Given the description of an element on the screen output the (x, y) to click on. 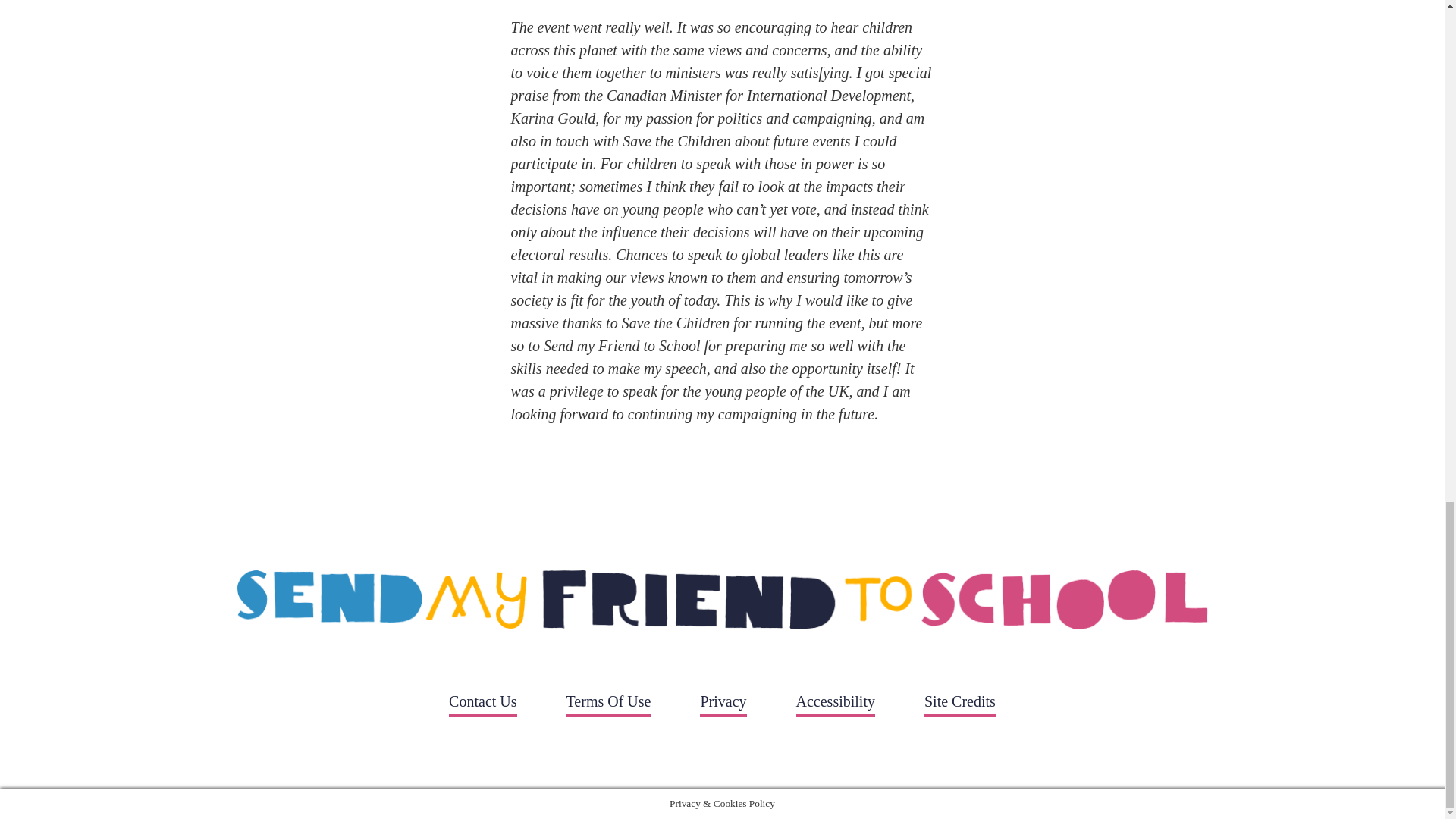
Privacy (722, 704)
Accessibility (835, 704)
Site Credits (959, 704)
Terms Of Use (608, 704)
Contact Us (482, 704)
